Given the description of an element on the screen output the (x, y) to click on. 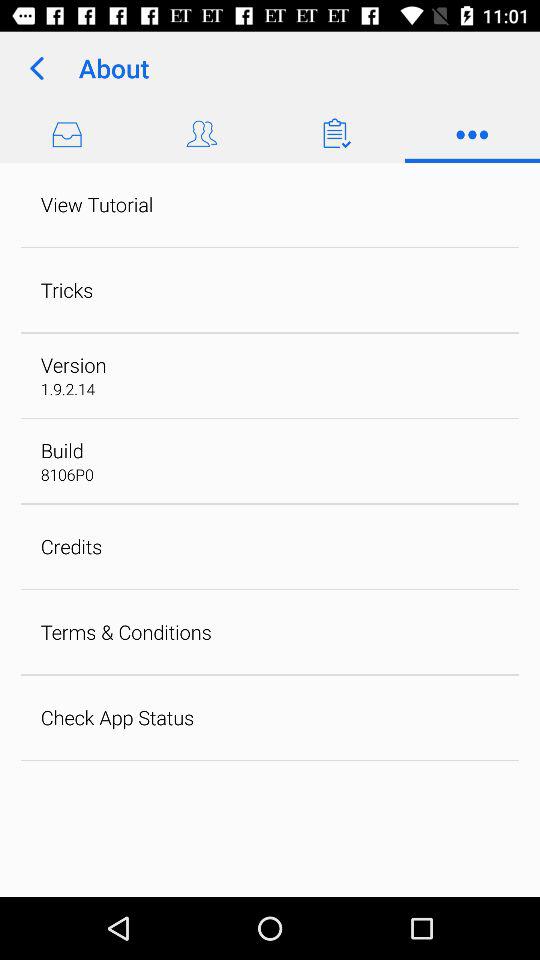
choose the app above 1 9 2 app (73, 364)
